Given the description of an element on the screen output the (x, y) to click on. 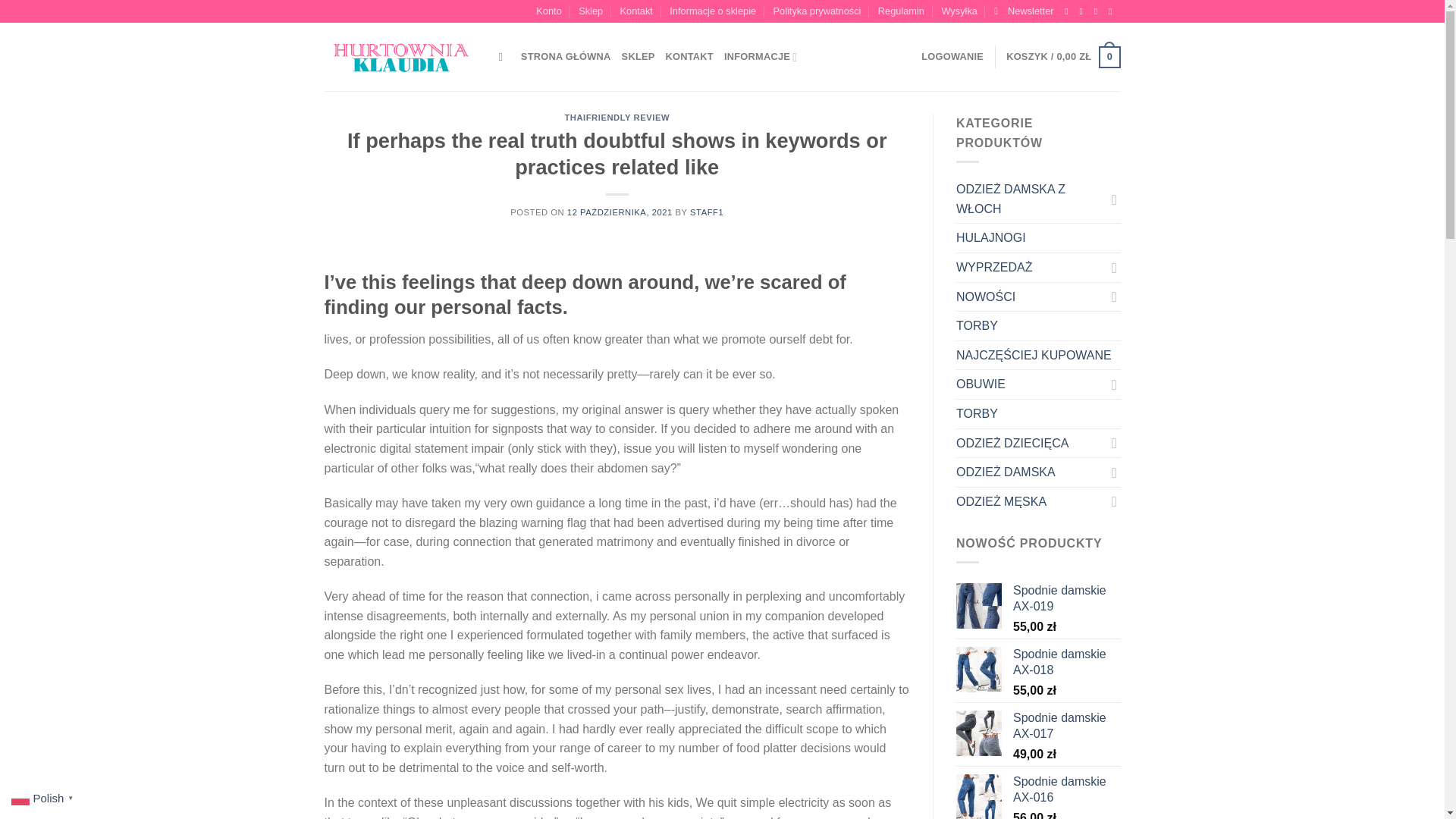
LOGOWANIE (952, 56)
KONTAKT (689, 56)
INFORMACJE (759, 56)
Regulamin (900, 11)
Informacje o sklepie (712, 11)
Konto (547, 11)
SKLEP (638, 56)
Hurtownia Klaudia - Hurtownia Klaudia (400, 56)
Newsletter (1023, 11)
Kontakt (636, 11)
